Given the description of an element on the screen output the (x, y) to click on. 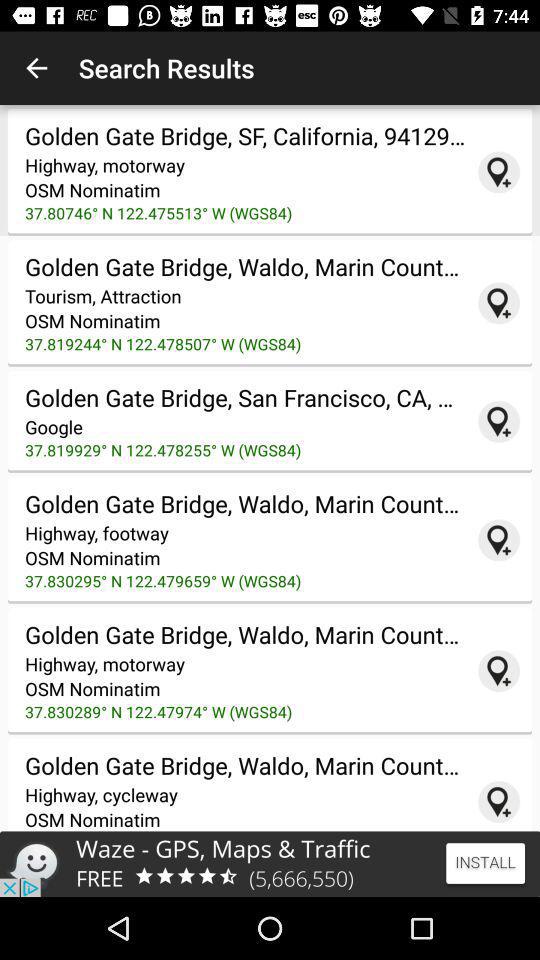
add a pin for this location to the map (499, 540)
